Given the description of an element on the screen output the (x, y) to click on. 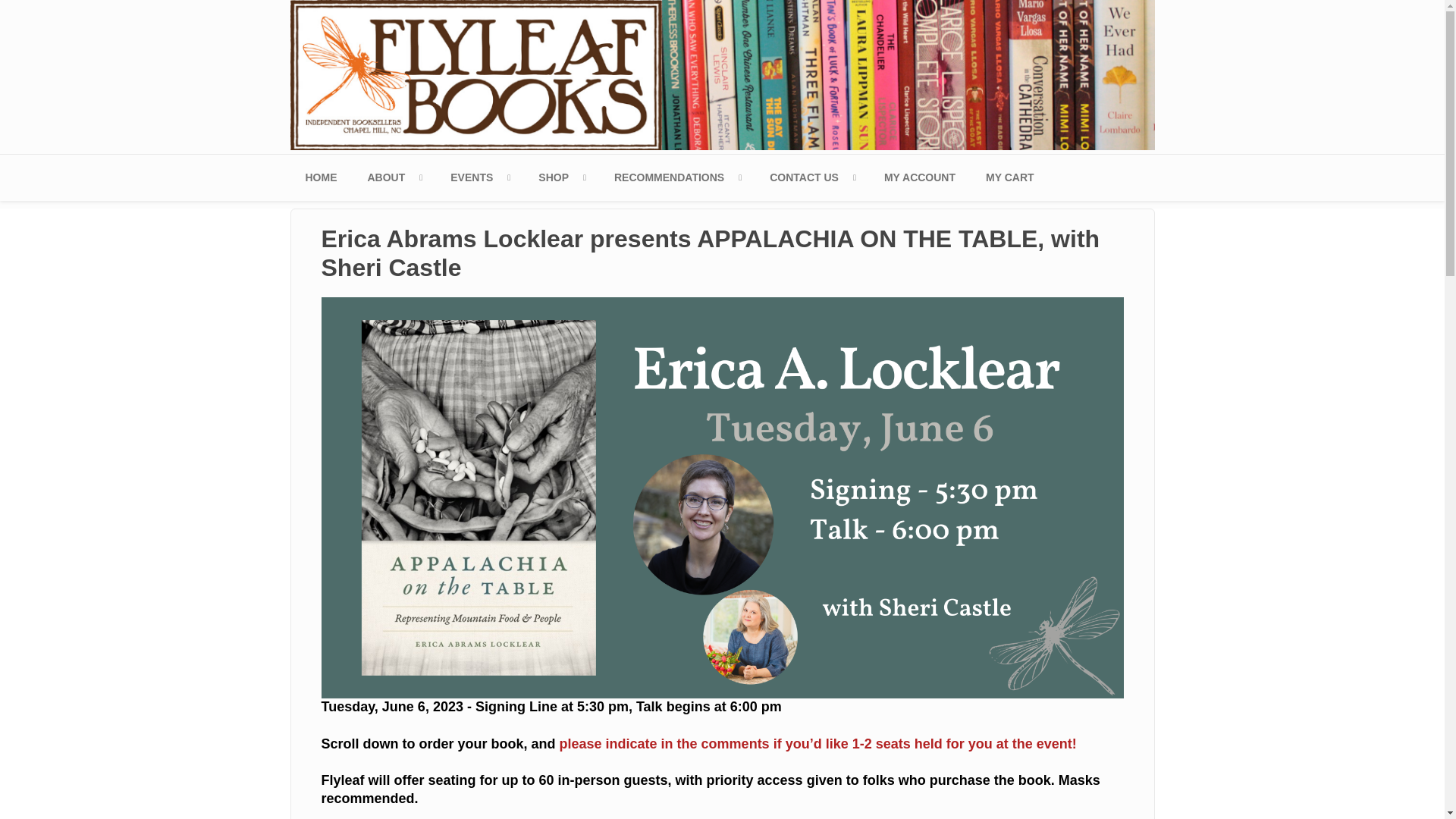
SHOP (560, 177)
Home (721, 73)
RECOMMENDATIONS (676, 177)
ABOUT (393, 177)
HOME (320, 177)
Lost? Return home! (320, 177)
EVENTS (478, 177)
